Given the description of an element on the screen output the (x, y) to click on. 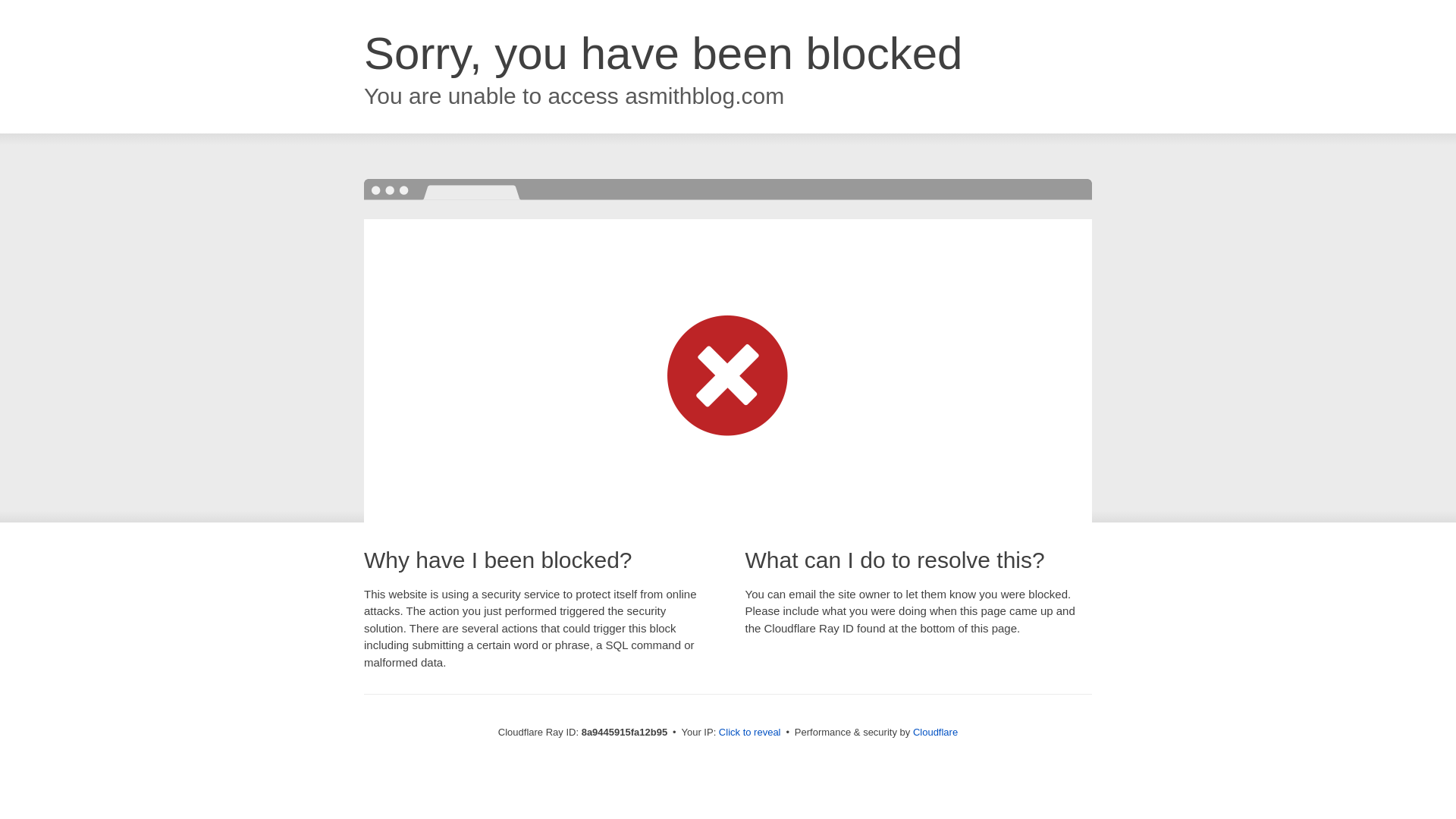
Click to reveal (749, 732)
Cloudflare (935, 731)
